Given the description of an element on the screen output the (x, y) to click on. 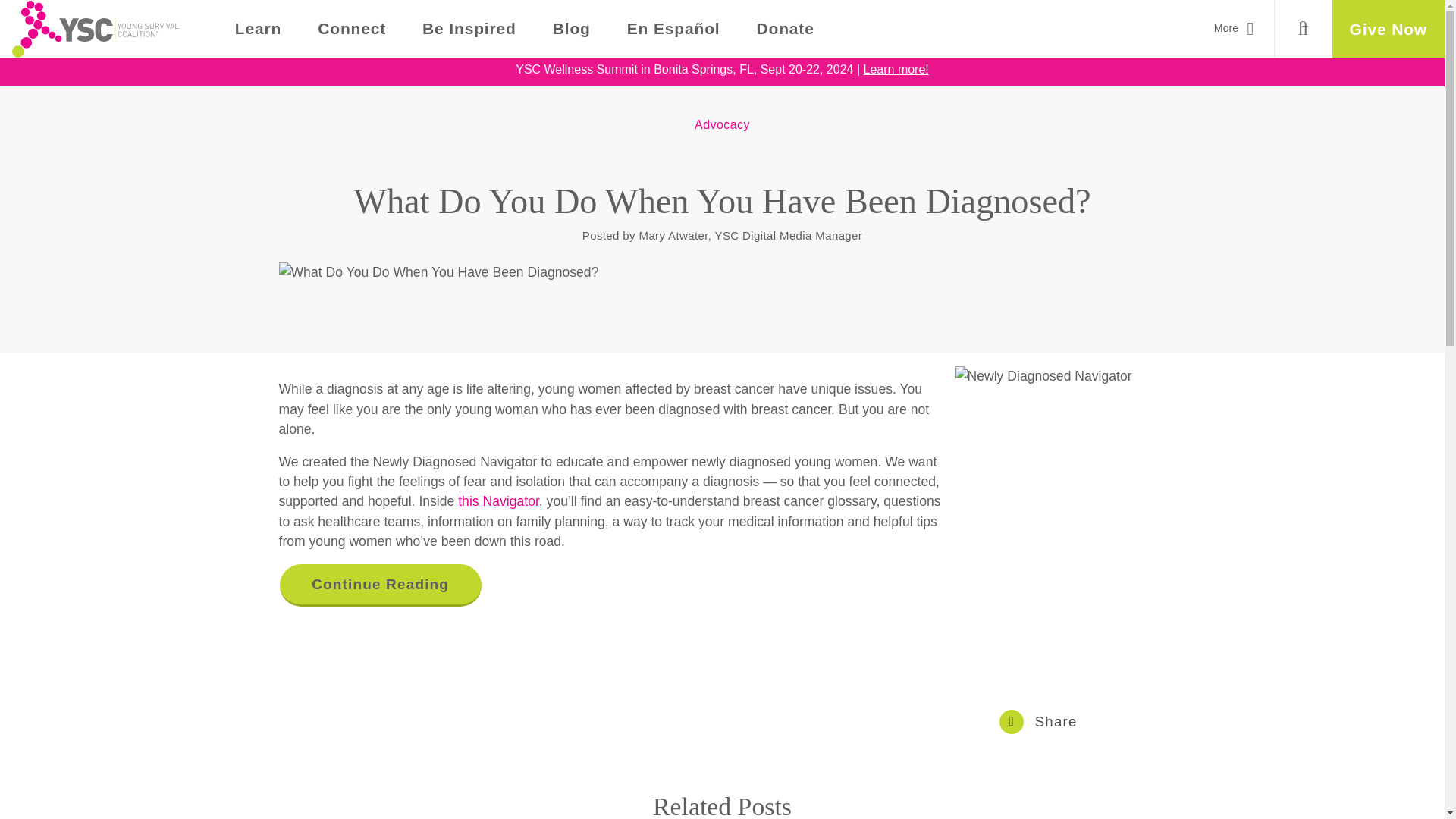
Learn (257, 28)
Advocacy (721, 124)
Search (1303, 29)
Connect (351, 28)
